Given the description of an element on the screen output the (x, y) to click on. 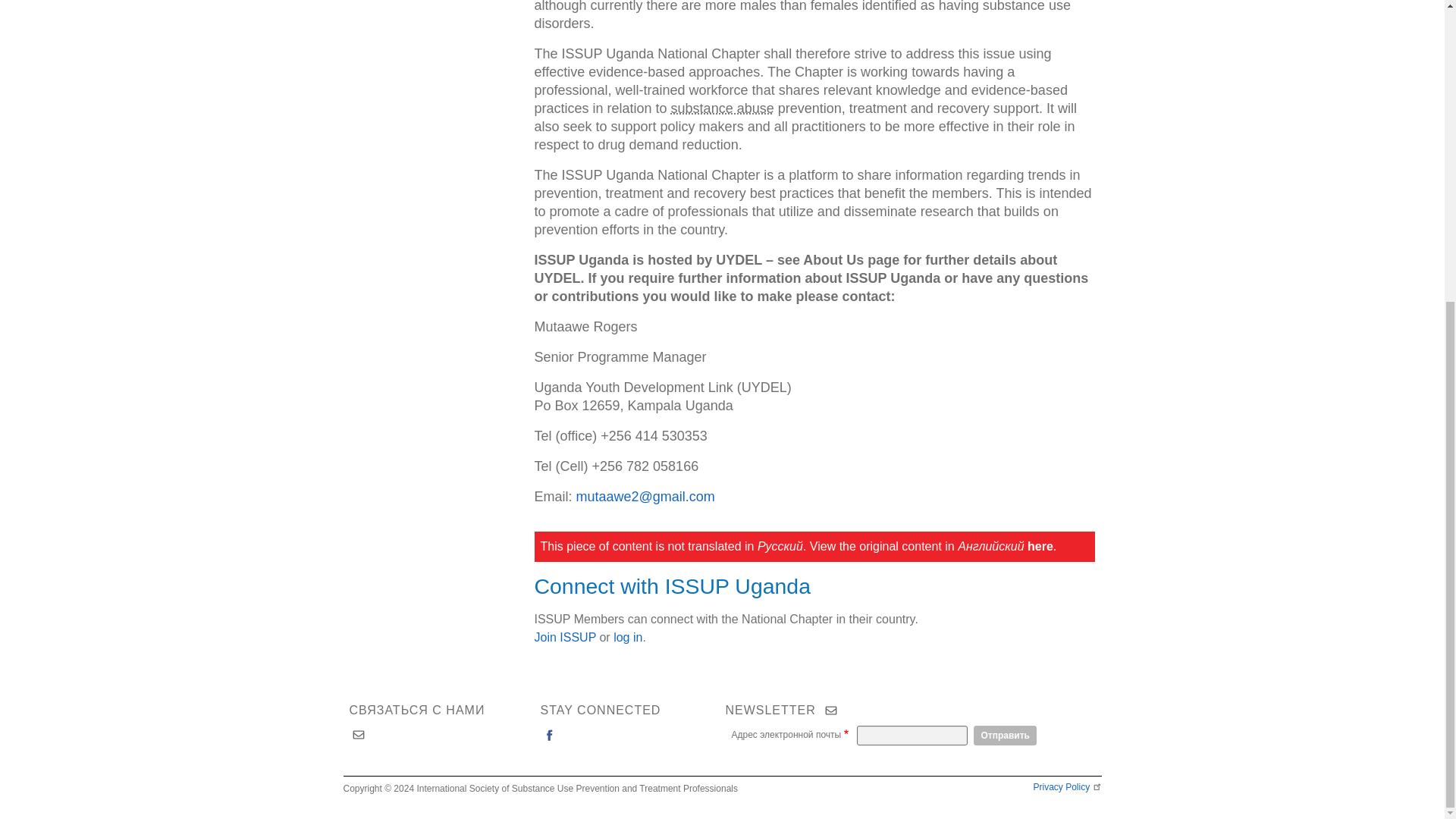
Facebook (548, 734)
Privacy Policy (1066, 787)
